Given the description of an element on the screen output the (x, y) to click on. 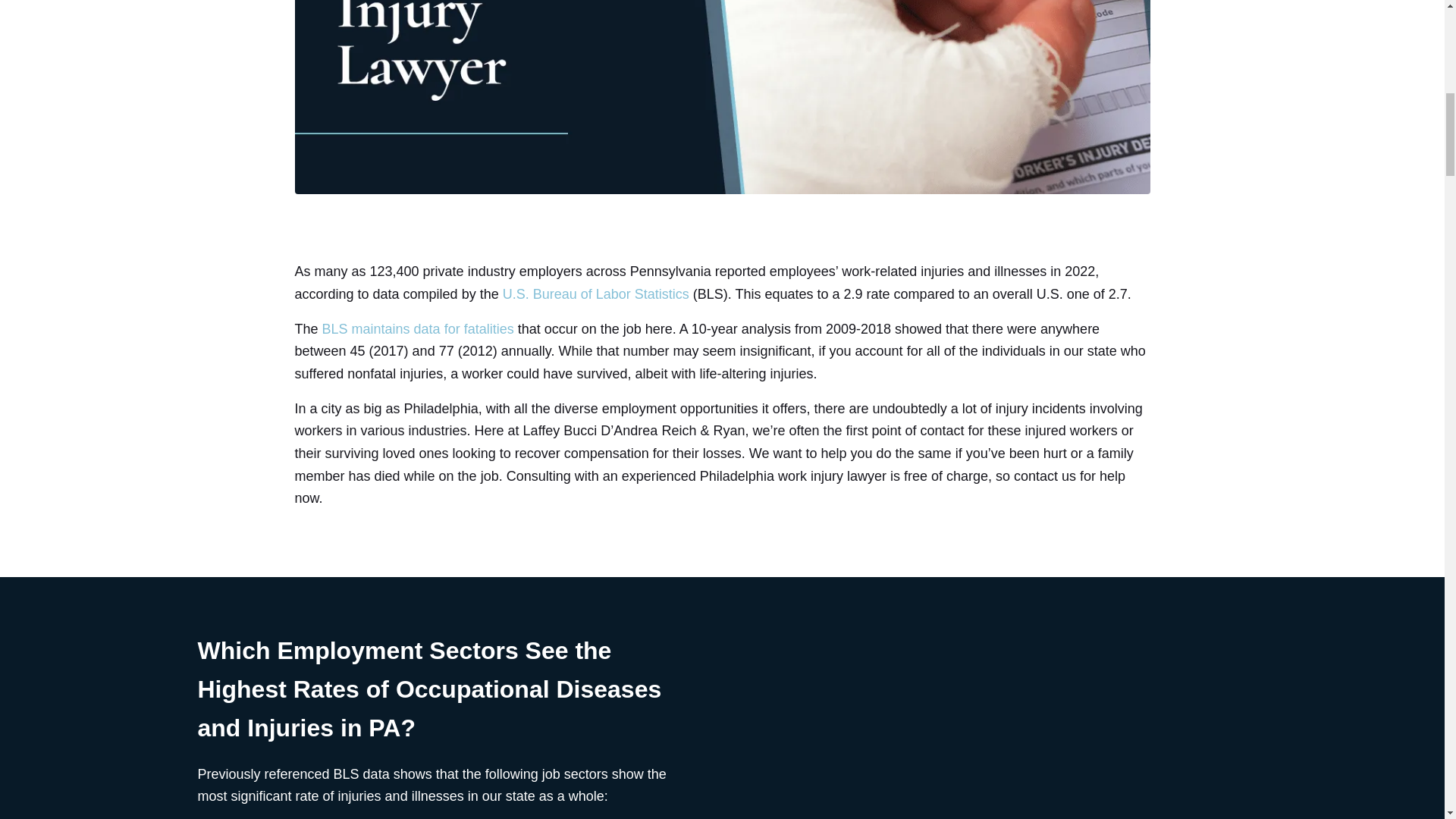
U.S. Bureau of Labor Statistics (595, 294)
BLS maintains data for fatalities (417, 328)
